Given the description of an element on the screen output the (x, y) to click on. 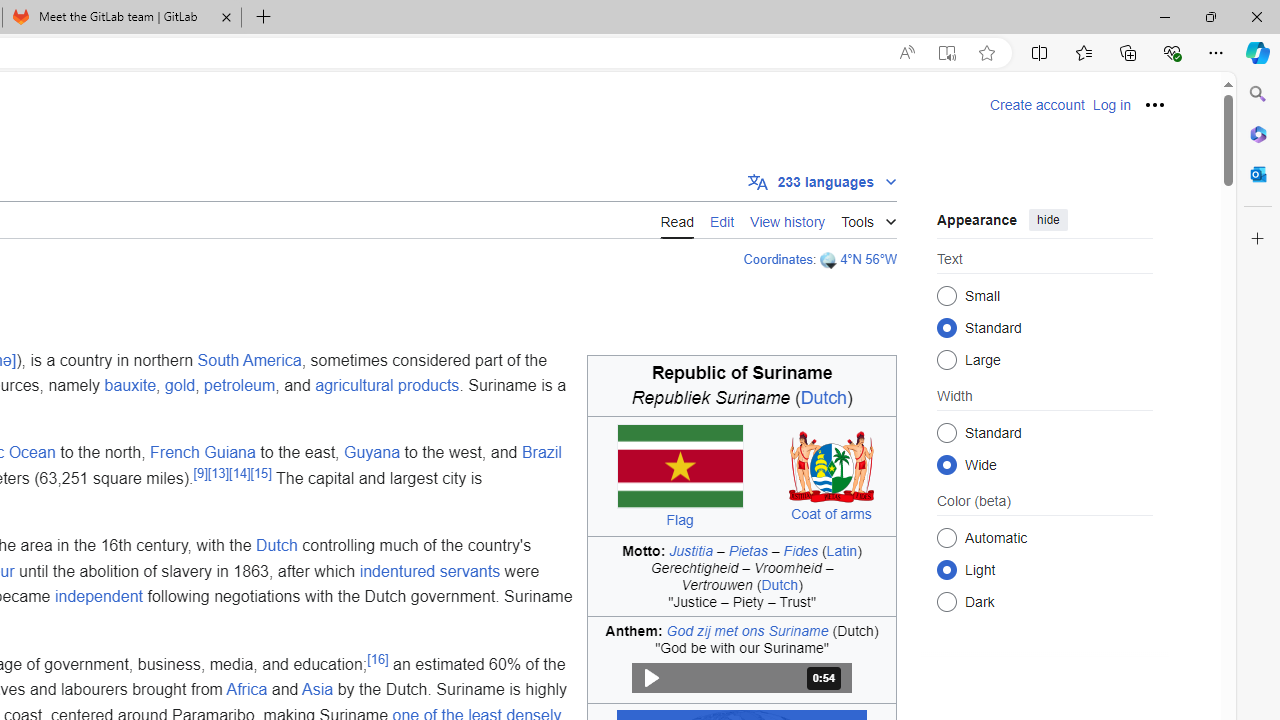
hide (1048, 219)
Class: mw-list-item mw-list-item-js (1044, 569)
Pietas (748, 550)
Guyana (371, 453)
God zij met ons Suriname (747, 630)
petroleum (239, 386)
Coat of arms of Suriname (831, 466)
Tools (868, 218)
French Guiana (202, 453)
Justitia (691, 550)
Flag of Suriname Flag Coat of arms of Suriname Coat of arms (742, 476)
Read (676, 219)
